Given the description of an element on the screen output the (x, y) to click on. 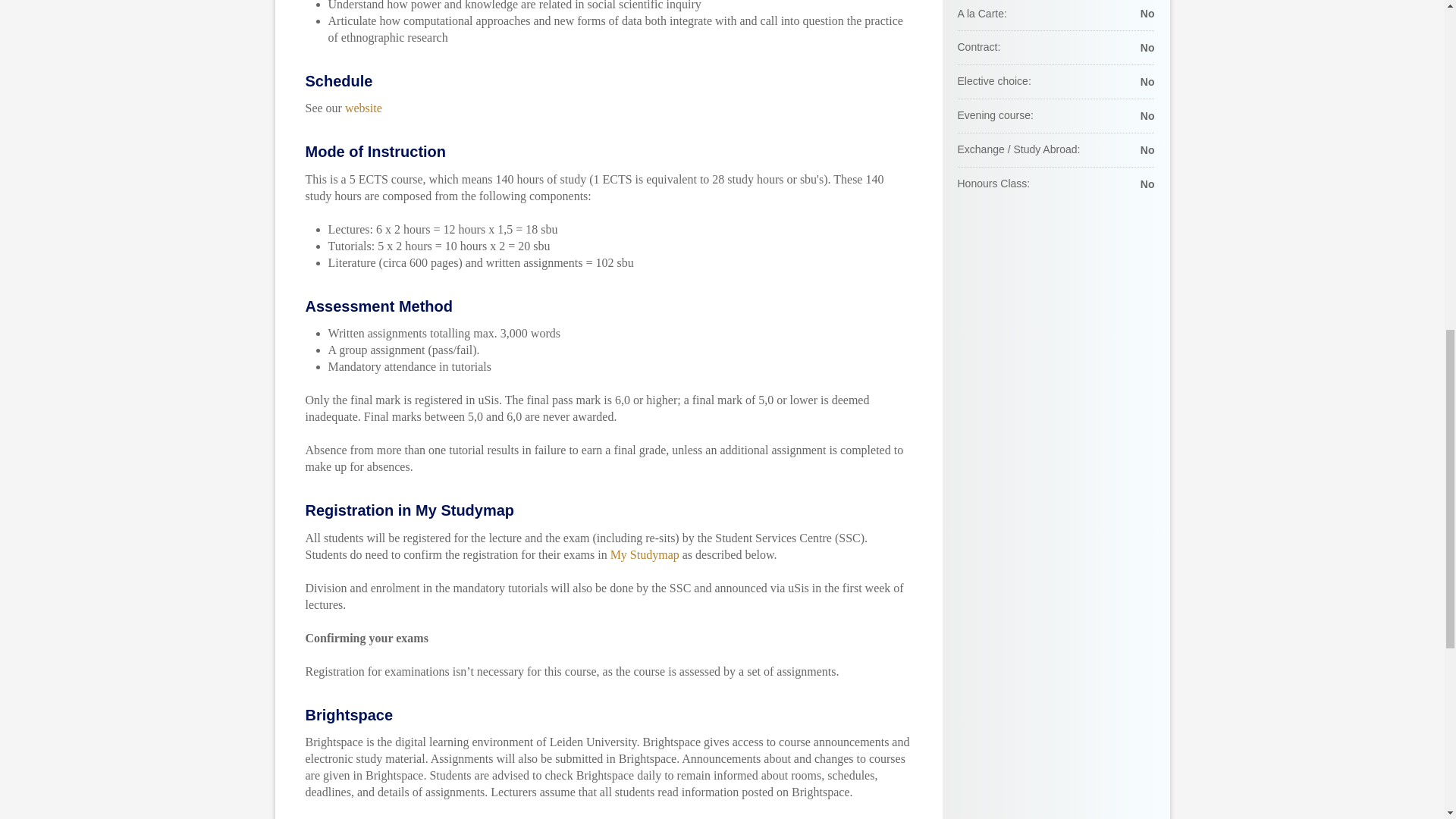
My Studymap (644, 553)
website (363, 107)
